Given the description of an element on the screen output the (x, y) to click on. 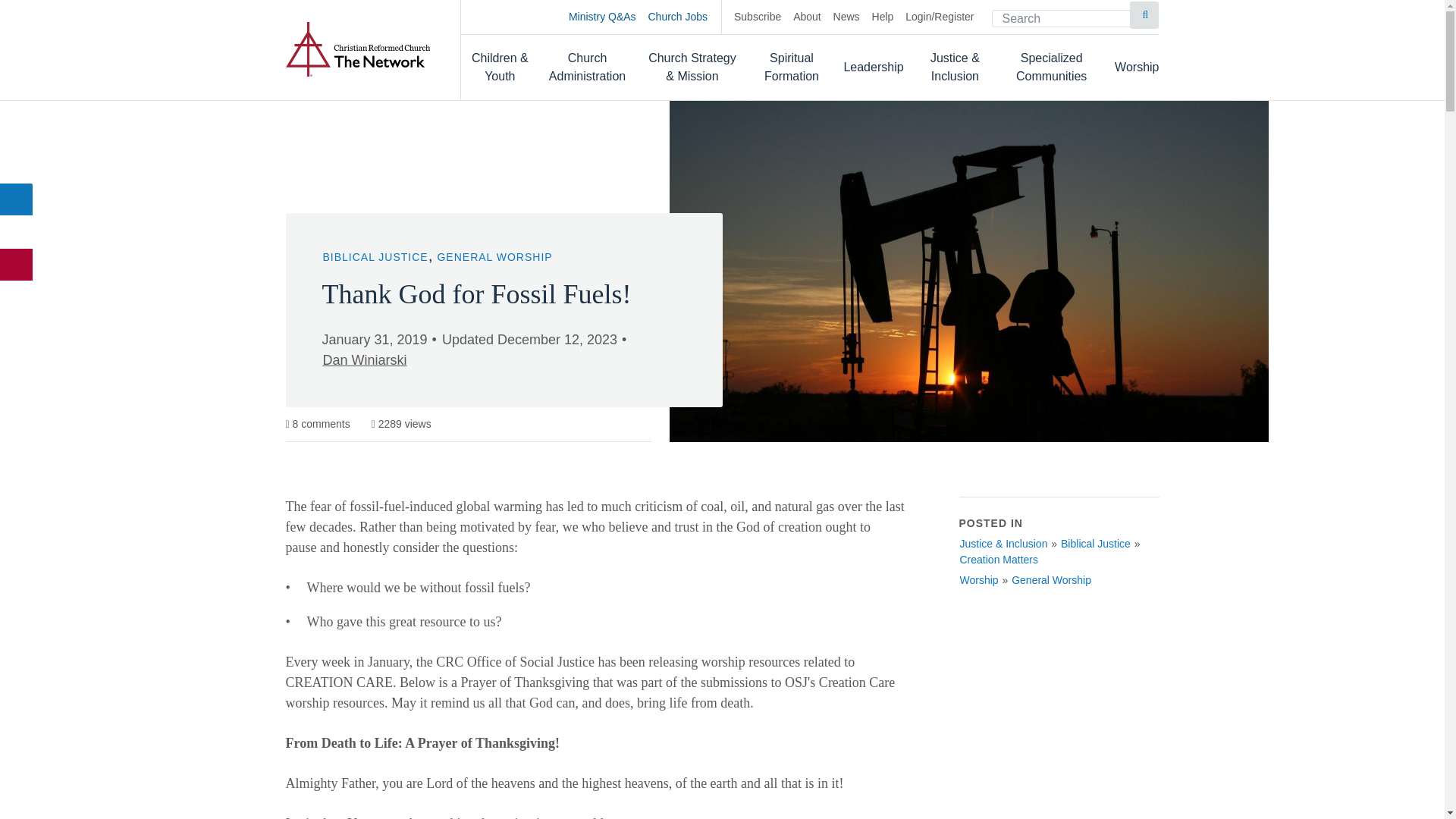
Church Jobs (684, 17)
Church Administration (587, 67)
Home (357, 49)
Dan Winiarski (364, 360)
Share to Email (16, 264)
Submit (1143, 14)
Share to X (16, 231)
Share to Facebook (16, 199)
Specialized Communities (1051, 67)
Subscribe (756, 17)
Spiritual Formation (791, 67)
Leadership (872, 67)
GENERAL WORSHIP (494, 256)
BIBLICAL JUSTICE (374, 256)
